Given the description of an element on the screen output the (x, y) to click on. 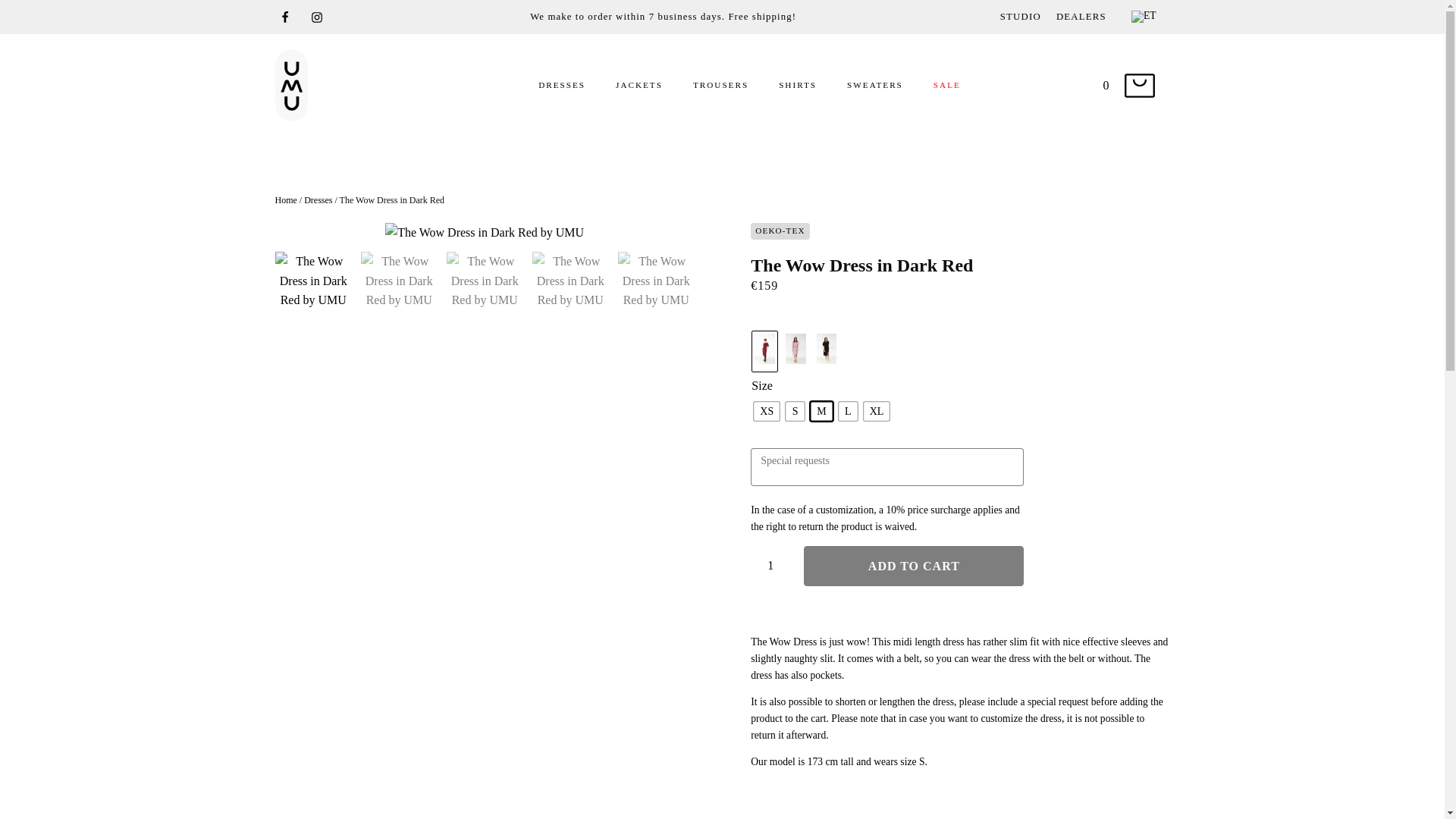
SHIRTS (797, 85)
Home (286, 199)
STUDIO (1020, 16)
JACKETS (638, 85)
S (795, 411)
SALE (946, 85)
ADD TO CART (913, 566)
Dresses (317, 199)
1 (772, 566)
TROUSERS (720, 85)
